Given the description of an element on the screen output the (x, y) to click on. 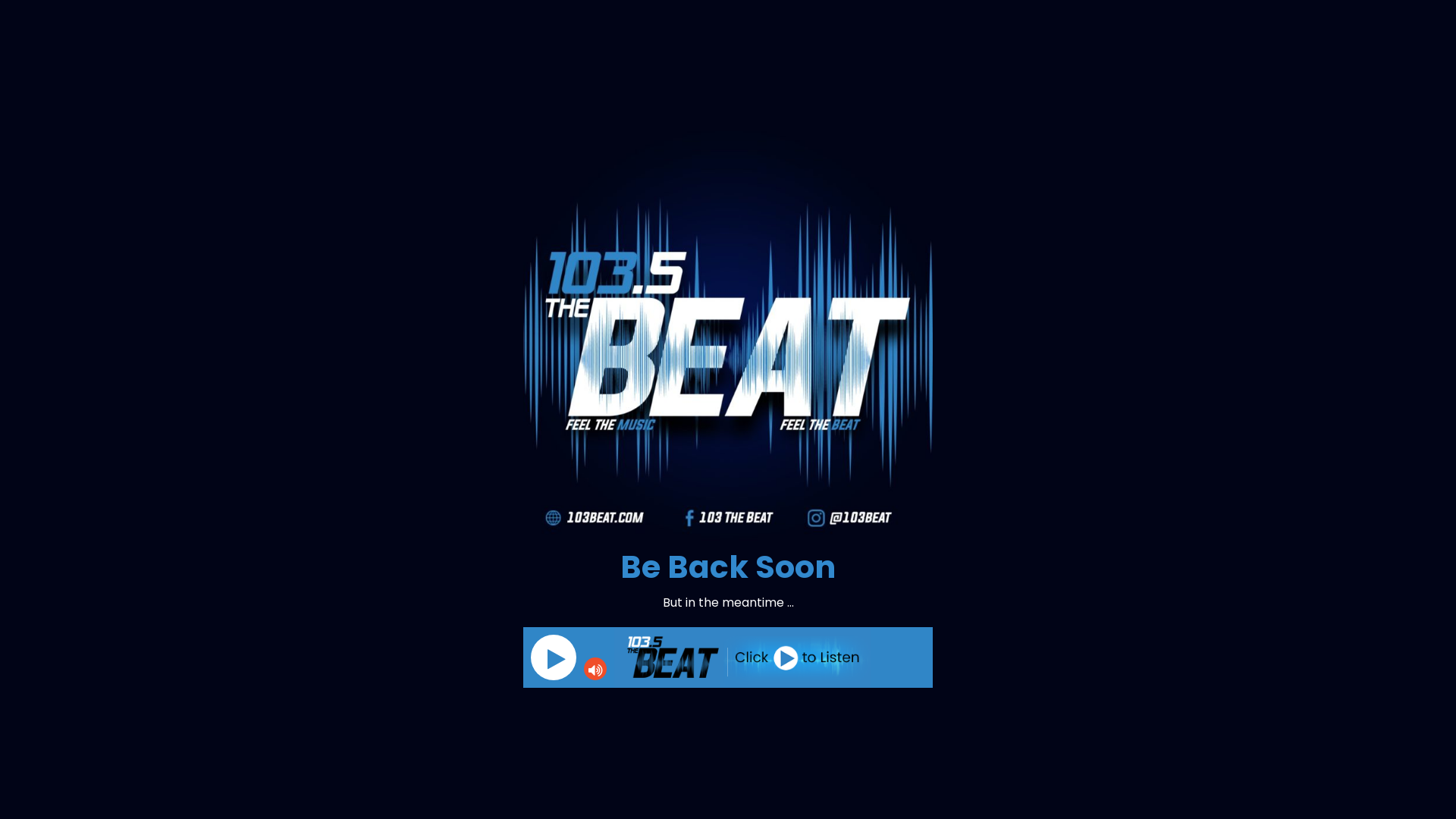
Mute Element type: hover (594, 668)
Play Element type: hover (553, 657)
  Element type: text (553, 657)
